Given the description of an element on the screen output the (x, y) to click on. 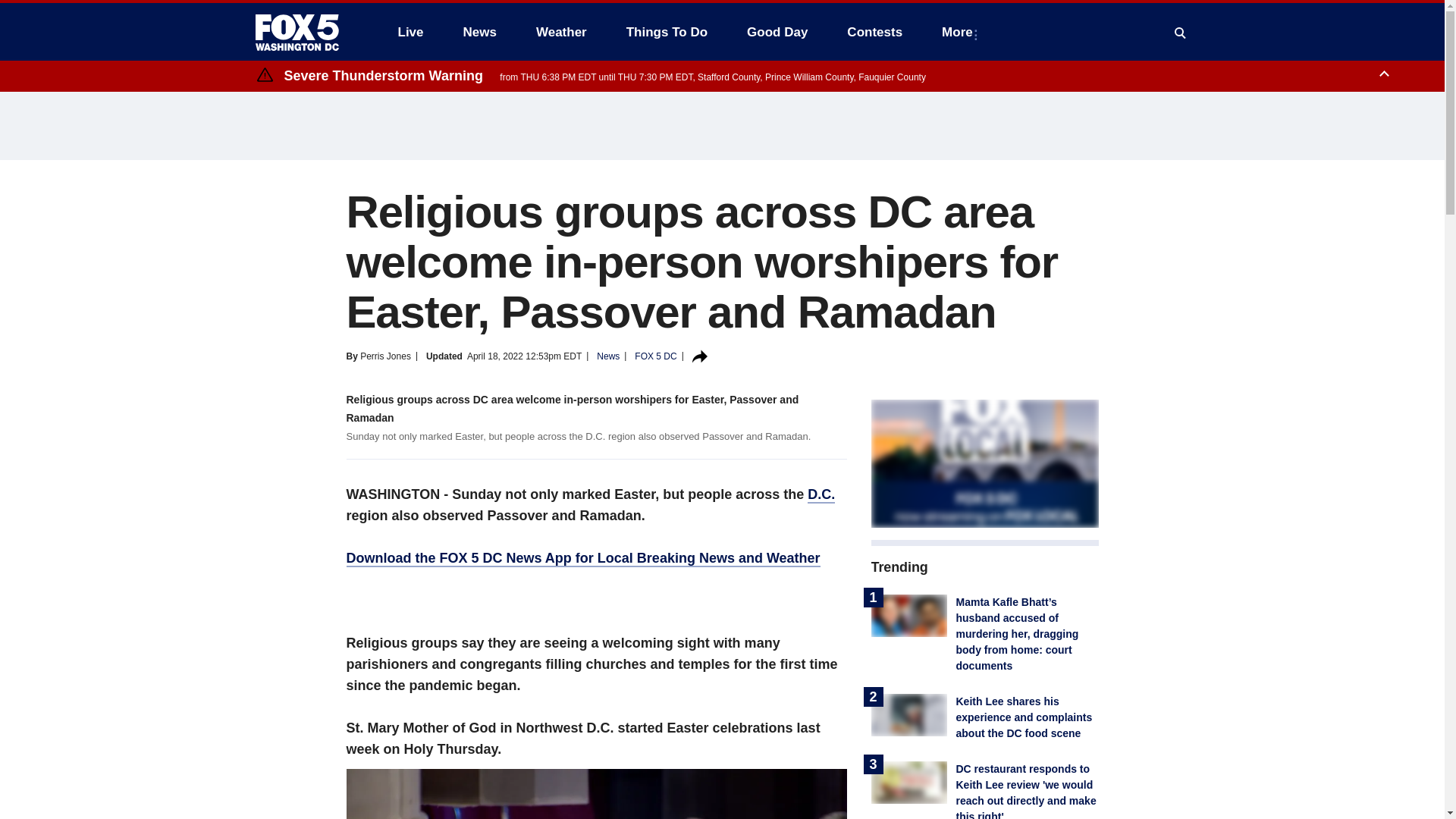
Weather (561, 32)
News (479, 32)
Things To Do (666, 32)
Live (410, 32)
More (960, 32)
Contests (874, 32)
Good Day (777, 32)
